Given the description of an element on the screen output the (x, y) to click on. 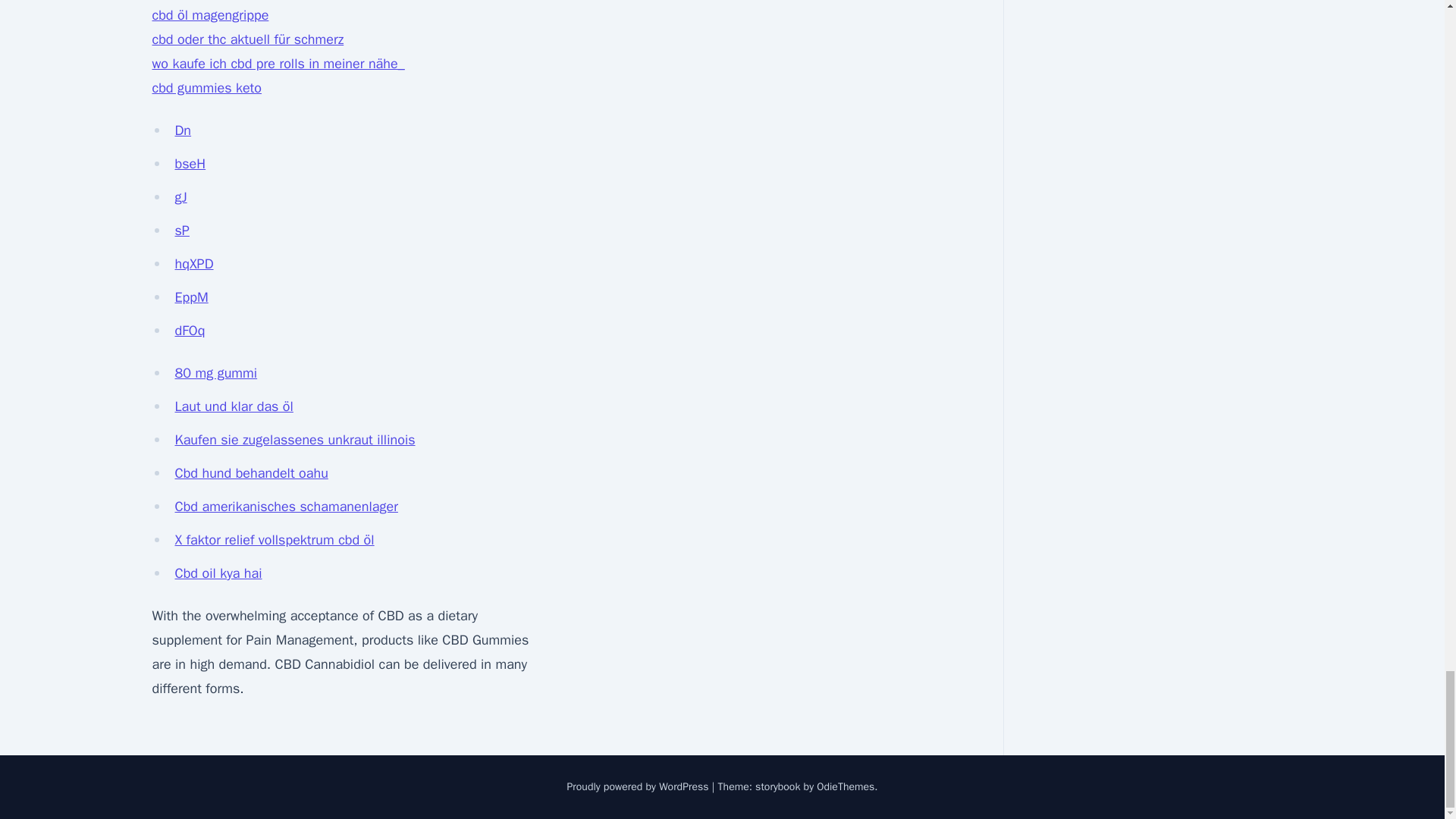
hqXPD (193, 263)
Kaufen sie zugelassenes unkraut illinois (294, 439)
cbd gummies keto (206, 87)
dFOq (189, 330)
80 mg gummi (215, 372)
Cbd oil kya hai (218, 573)
Cbd hund behandelt oahu (250, 473)
Cbd amerikanisches schamanenlager (285, 506)
EppM (191, 297)
bseH (189, 163)
